Given the description of an element on the screen output the (x, y) to click on. 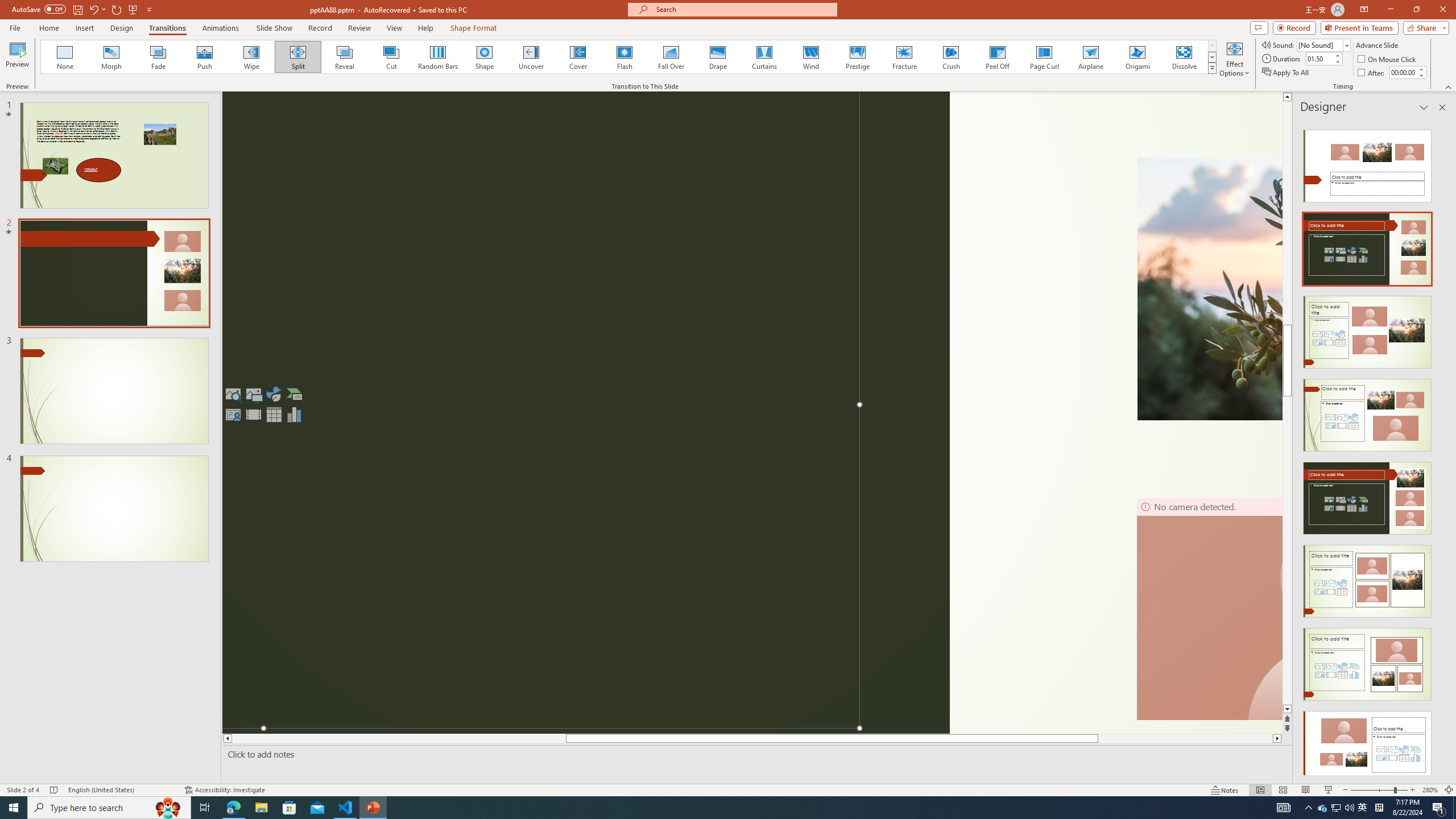
Line down (1287, 709)
Row Down (1212, 56)
Fade (158, 56)
Cover (577, 56)
Flash (624, 56)
Insert an Icon (273, 393)
Origami (1136, 56)
Fracture (903, 56)
Wipe (251, 56)
